Given the description of an element on the screen output the (x, y) to click on. 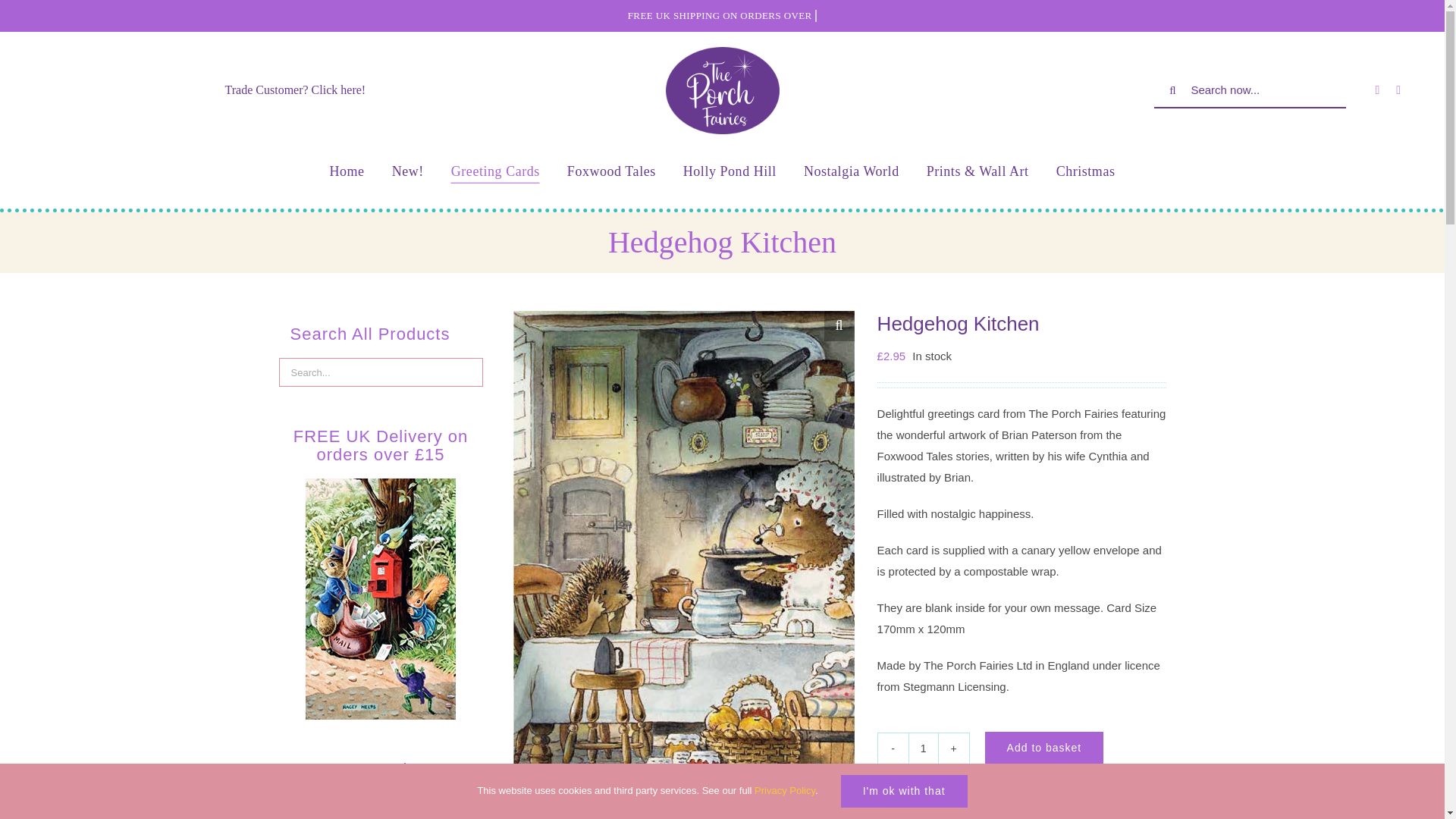
Greeting Cards (495, 172)
Nostalgia World (851, 172)
Foxwood Tales (611, 172)
Log In (1360, 234)
1 (923, 748)
- (892, 748)
Trade Customer? Click here! (295, 89)
Christmas (1086, 172)
Home (346, 172)
New! (407, 172)
Holly Pond Hill (729, 172)
